Given the description of an element on the screen output the (x, y) to click on. 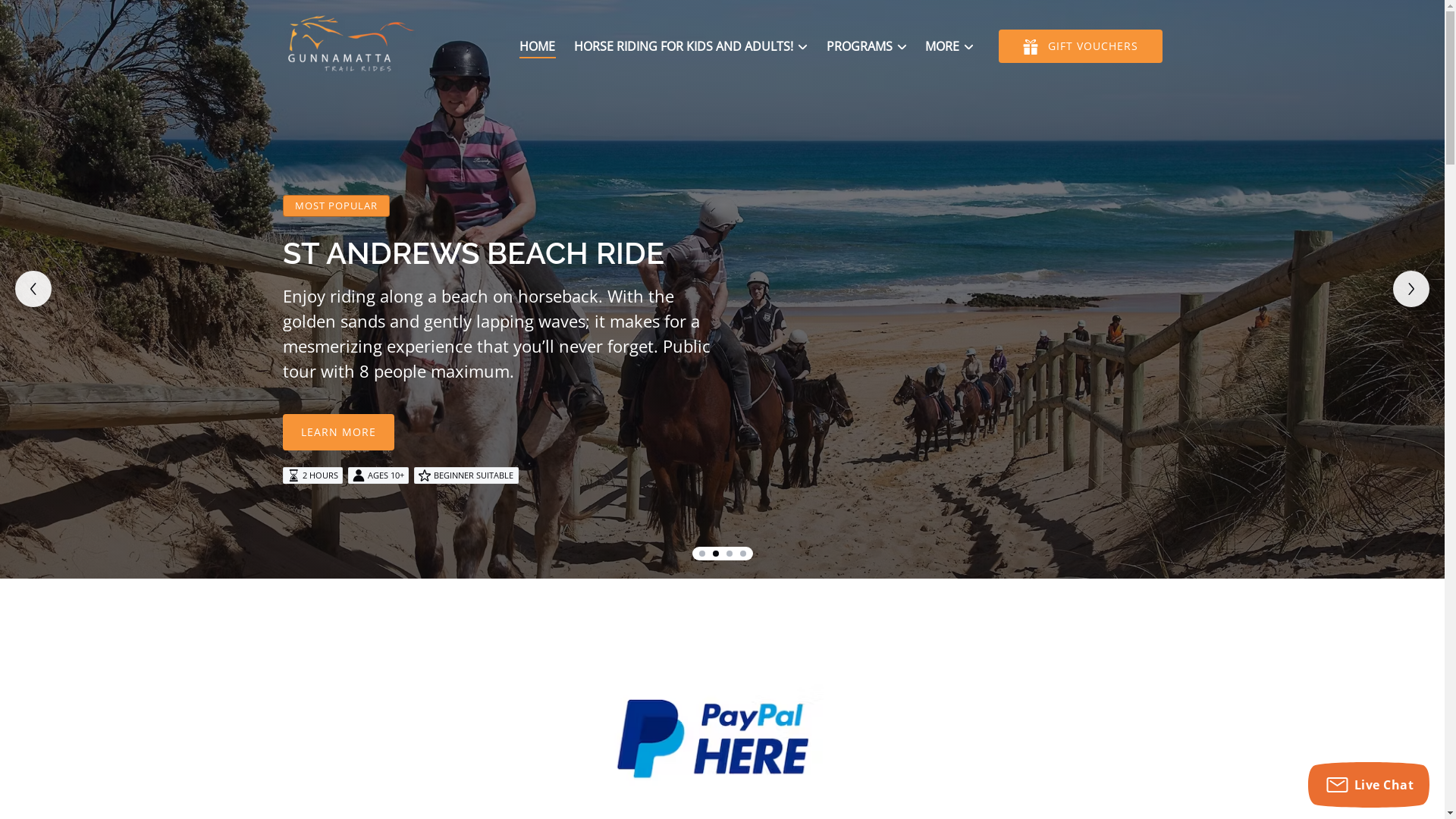
Live Chat Element type: text (1368, 784)
4 Element type: text (743, 553)
HORSE RIDING FOR KIDS AND ADULTS! Element type: text (690, 46)
PROGRAMS Element type: text (866, 46)
2 Element type: text (715, 553)
1 Element type: text (702, 553)
3 Element type: text (729, 553)
Skip to footer Element type: text (45, 16)
ST ANDREWS BEACH RIDE Element type: text (472, 252)
Next Element type: text (1411, 288)
GIFT GIFT VOUCHERS Element type: text (1079, 45)
Skip to content Element type: text (50, 16)
HOME Element type: text (537, 46)
LEARN MORE Element type: text (337, 422)
Previous Element type: text (33, 288)
MORE Element type: text (949, 46)
Skip to primary navigation Element type: text (82, 16)
paypal Element type: hover (721, 731)
